Given the description of an element on the screen output the (x, y) to click on. 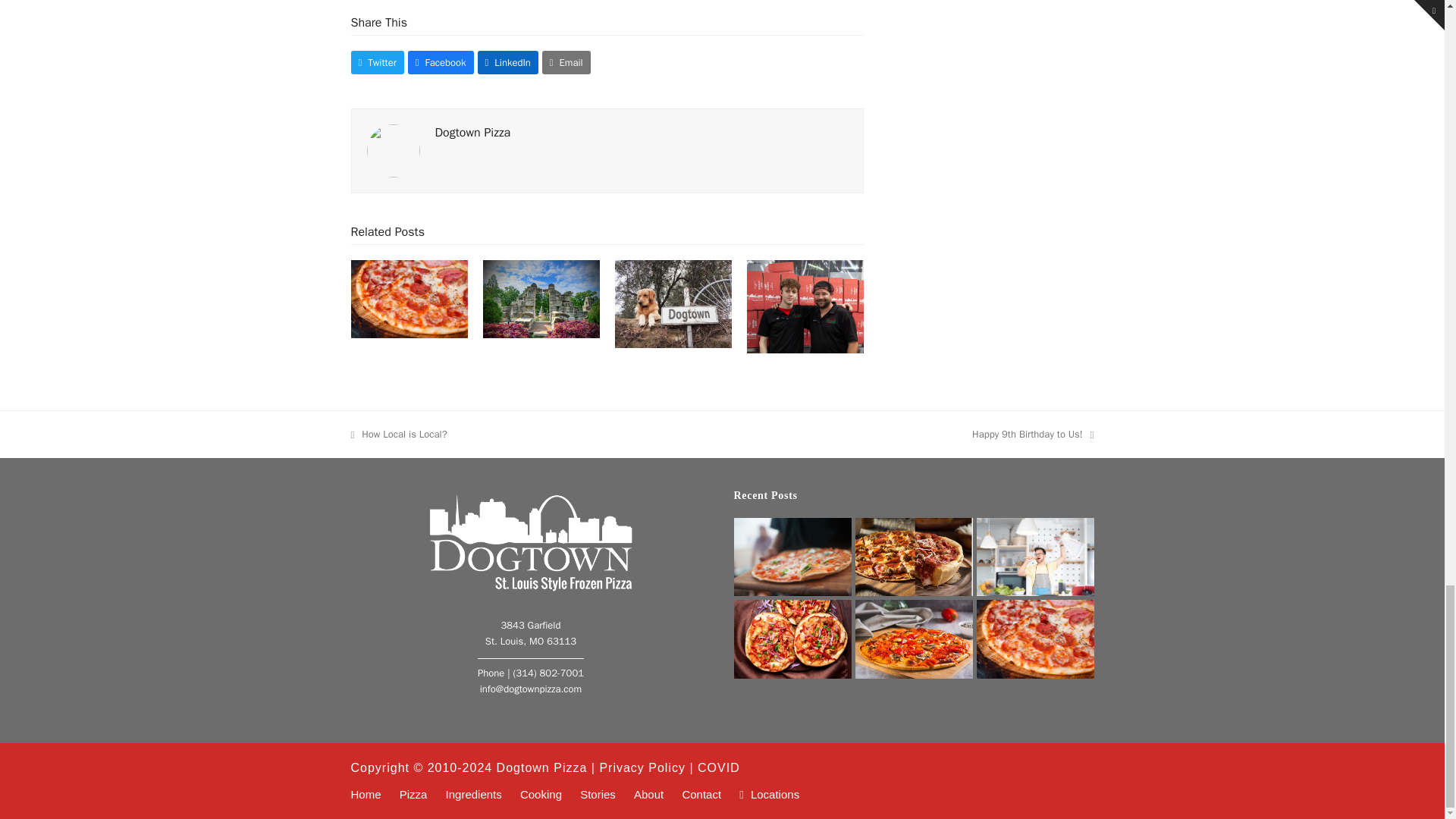
Dogtown Pizza (473, 132)
Email (566, 62)
Facebook (440, 62)
The History of Dogtown, St. Louis (673, 302)
Visit Author Page (393, 149)
Twitter (376, 62)
LinkedIn (507, 62)
Visit Author Page (473, 132)
